Given the description of an element on the screen output the (x, y) to click on. 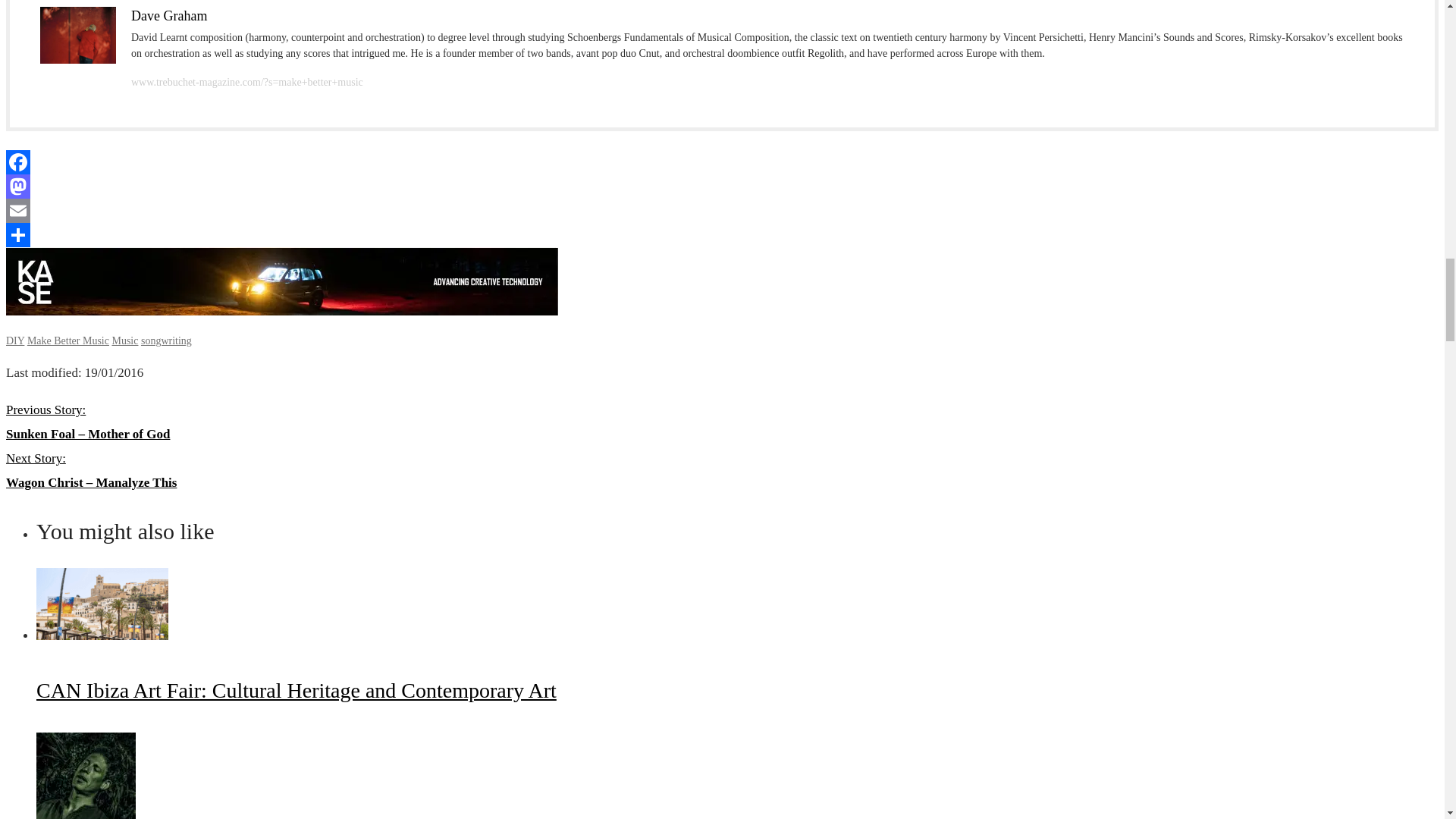
CAN Ibiza Art Fair: Cultural Heritage and Contemporary Art (102, 635)
CAN Ibiza Art Fair: Cultural Heritage and Contemporary Art (296, 689)
